Given the description of an element on the screen output the (x, y) to click on. 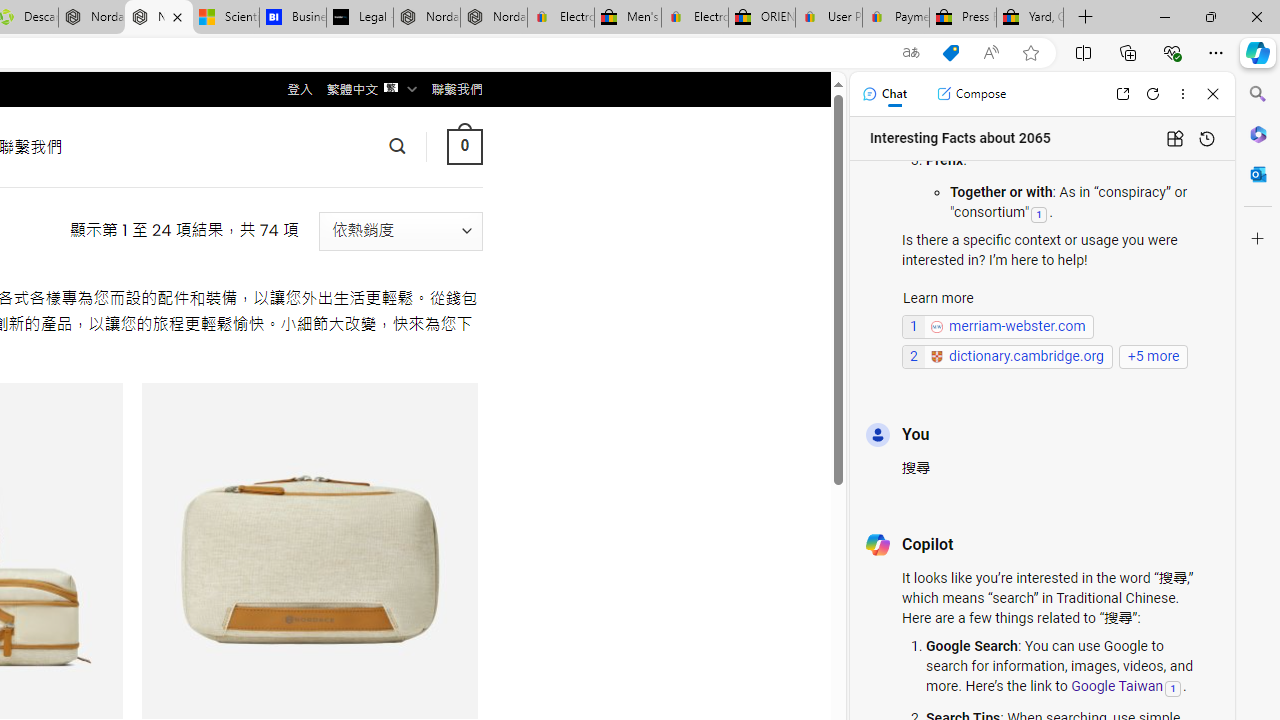
This site has coupons! Shopping in Microsoft Edge (950, 53)
